Given the description of an element on the screen output the (x, y) to click on. 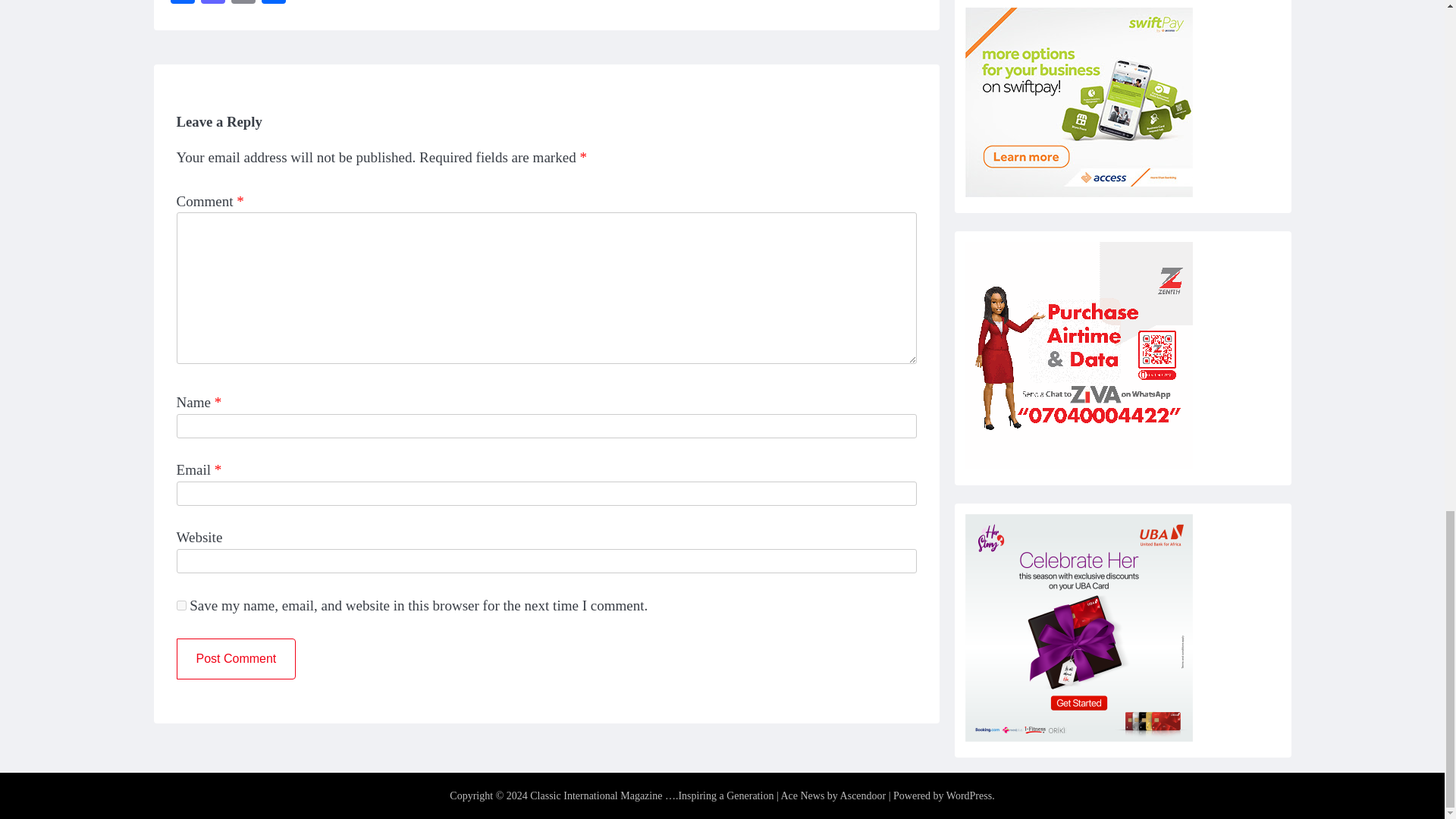
yes (181, 604)
Post Comment (235, 658)
Email (242, 3)
Mastodon (211, 3)
Facebook (181, 3)
